Given the description of an element on the screen output the (x, y) to click on. 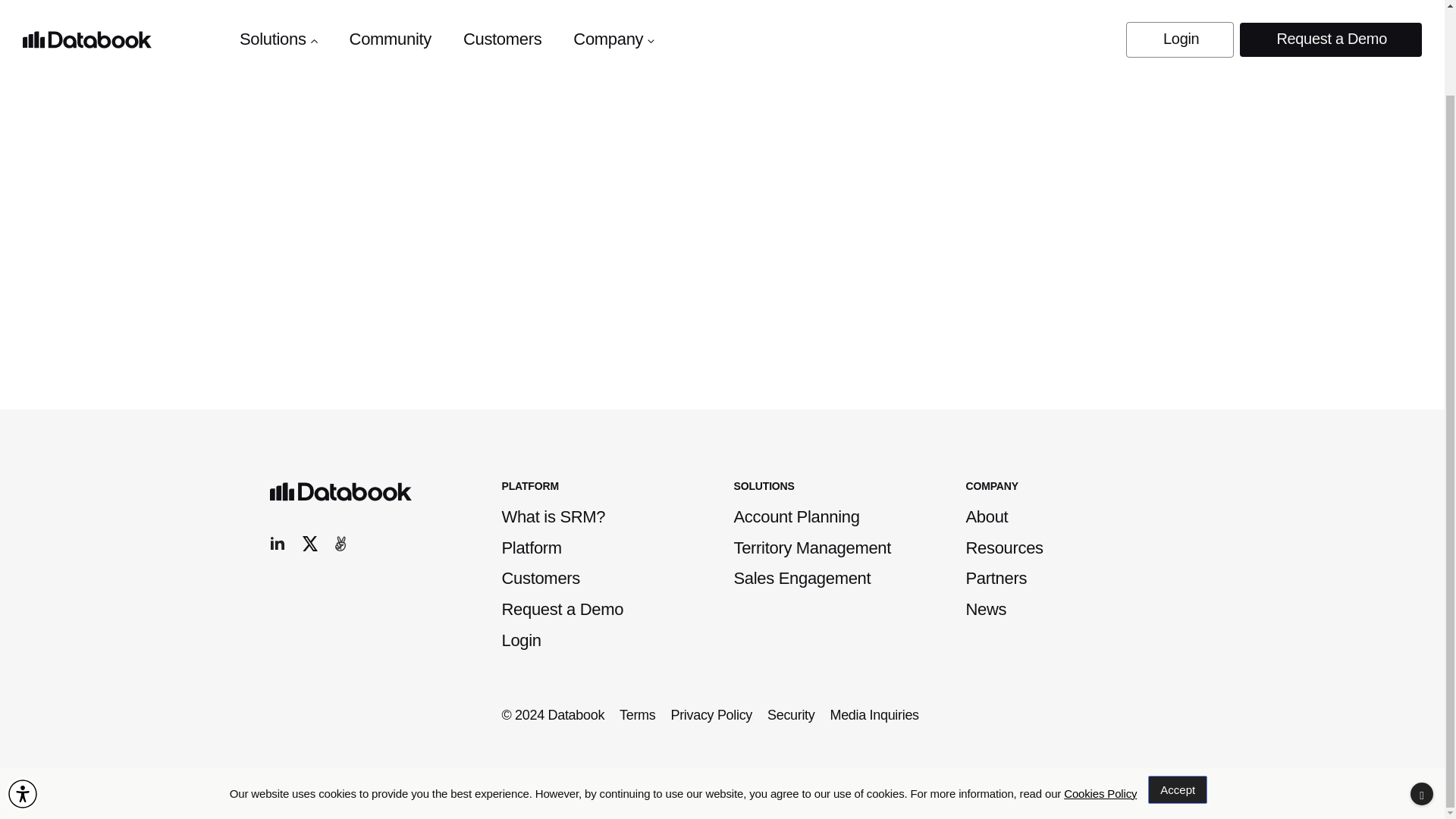
Platform (532, 547)
Login (521, 640)
Accessibility Menu (22, 696)
News (986, 609)
Terms (637, 715)
What is SRM? (553, 516)
Customers (540, 578)
Privacy Policy (710, 715)
About (987, 516)
Media Inquiries (873, 715)
Request a Demo (563, 609)
Territory Management (812, 547)
Partners (996, 578)
Account Planning (796, 516)
Sales Engagement (801, 578)
